Given the description of an element on the screen output the (x, y) to click on. 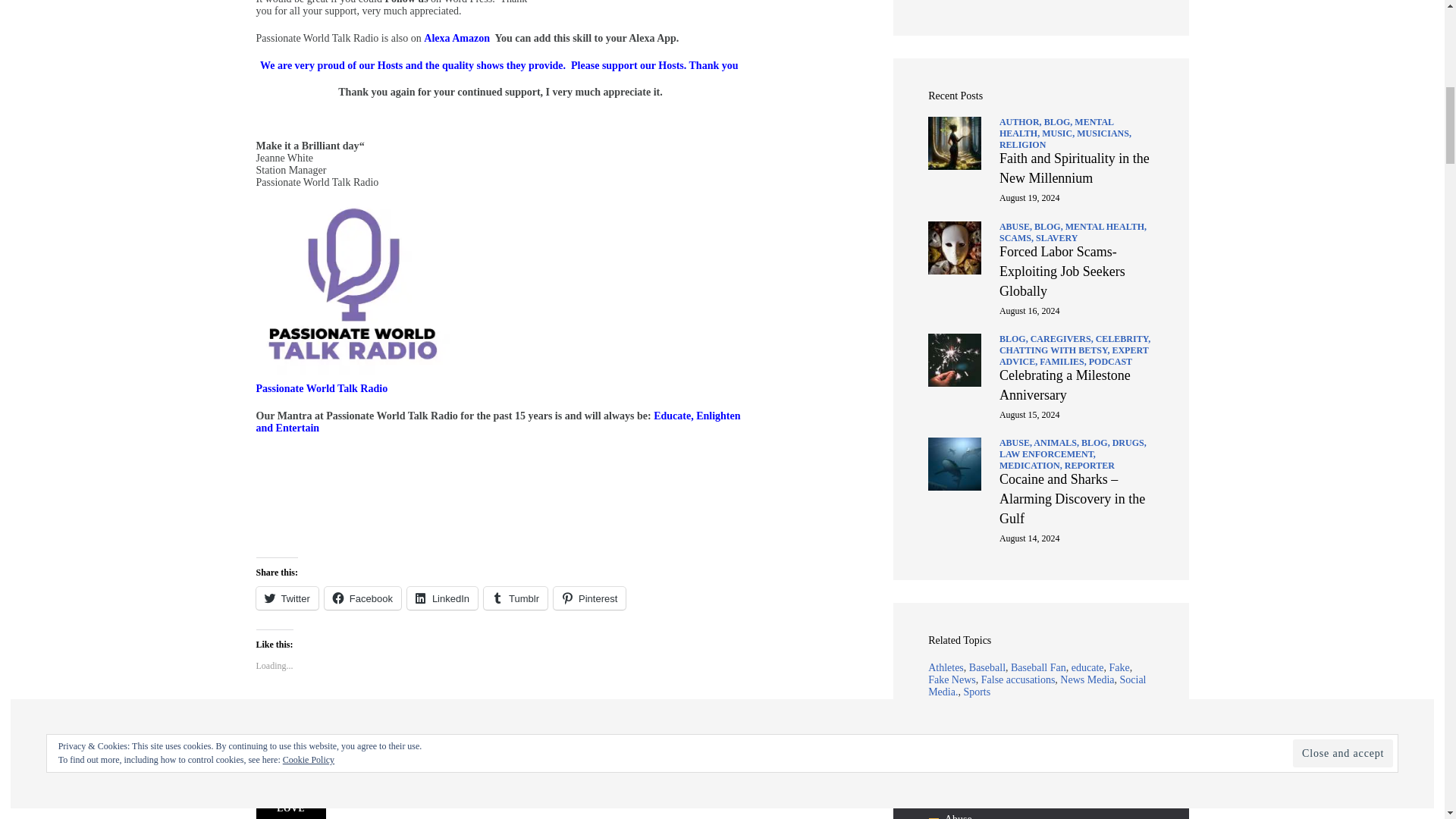
View all posts in Music (1059, 132)
Click to share on Twitter (287, 598)
View all posts in Abuse (1015, 226)
View all posts in Mental Health (1106, 226)
Click to share on Facebook (362, 598)
View all posts in Scams (1016, 237)
Click to share on Tumblr (515, 598)
View all posts in Mental Health (1055, 127)
Click to share on Pinterest (589, 598)
View all posts in Author (1020, 122)
